Given the description of an element on the screen output the (x, y) to click on. 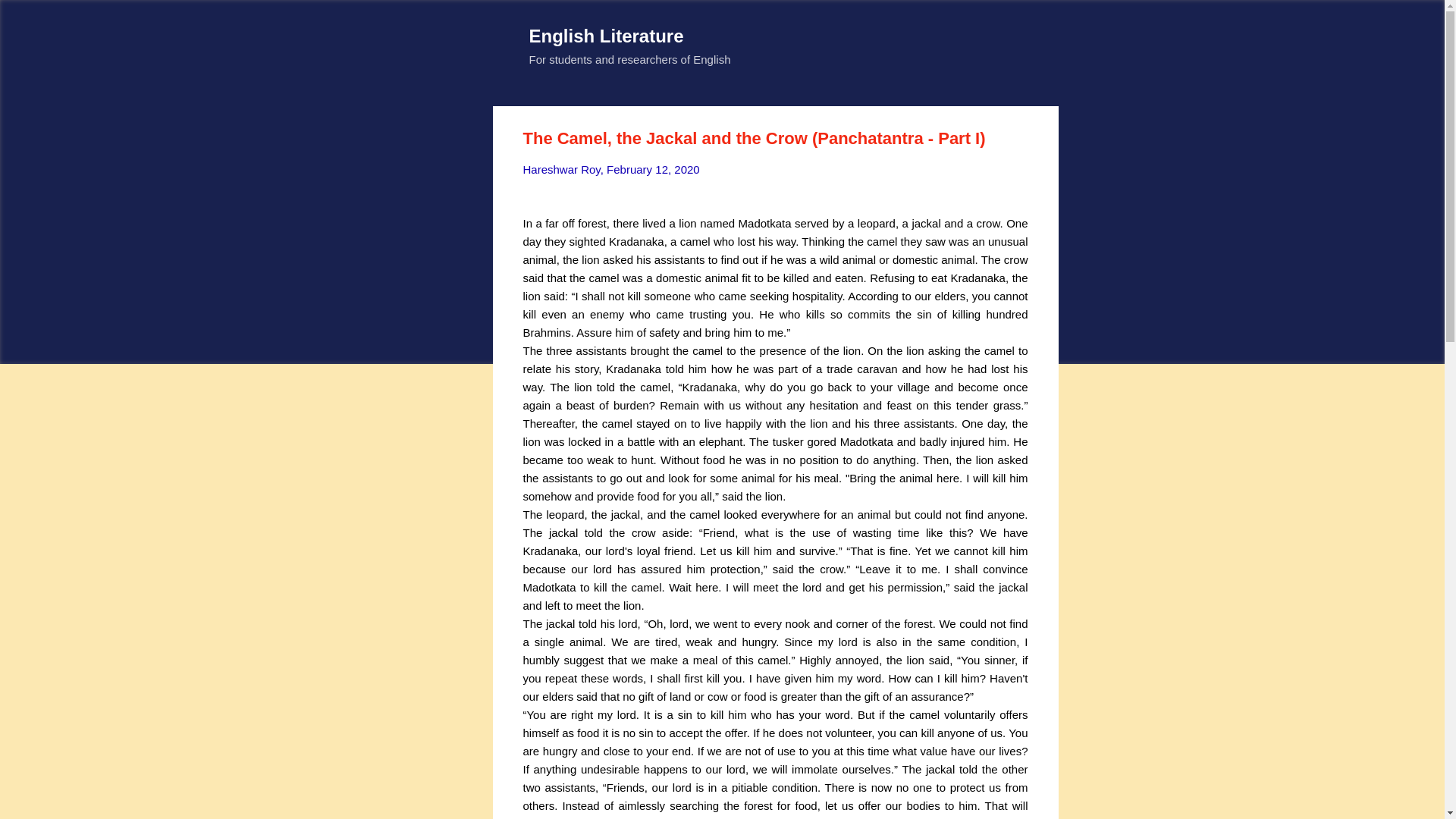
English Literature (606, 35)
permanent link (653, 169)
February 12, 2020 (653, 169)
Search (29, 18)
